Given the description of an element on the screen output the (x, y) to click on. 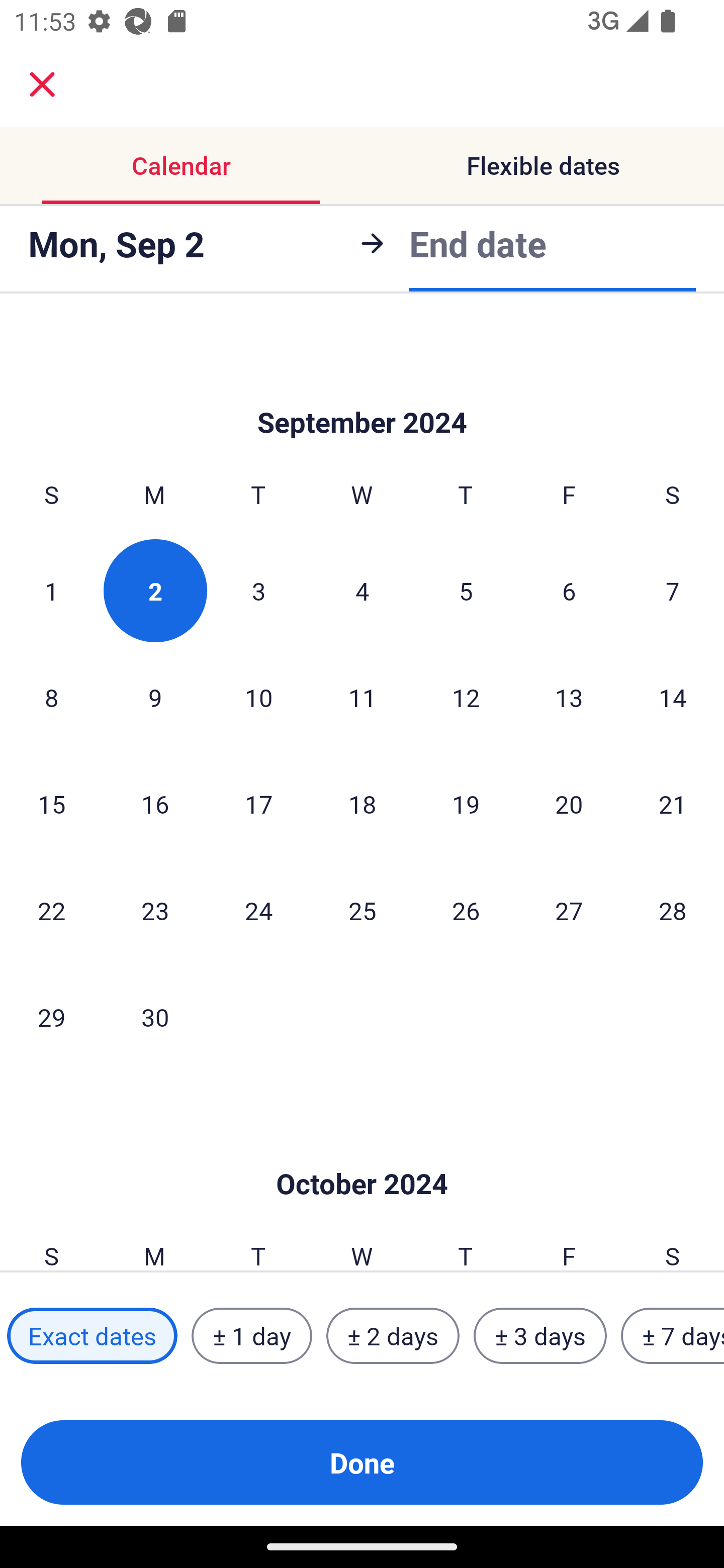
close. (42, 84)
Flexible dates (542, 164)
End date (477, 243)
Skip to Done (362, 391)
1 Sunday, September 1, 2024 (51, 590)
3 Tuesday, September 3, 2024 (258, 590)
4 Wednesday, September 4, 2024 (362, 590)
5 Thursday, September 5, 2024 (465, 590)
6 Friday, September 6, 2024 (569, 590)
7 Saturday, September 7, 2024 (672, 590)
8 Sunday, September 8, 2024 (51, 697)
9 Monday, September 9, 2024 (155, 697)
10 Tuesday, September 10, 2024 (258, 697)
11 Wednesday, September 11, 2024 (362, 697)
12 Thursday, September 12, 2024 (465, 697)
13 Friday, September 13, 2024 (569, 697)
14 Saturday, September 14, 2024 (672, 697)
15 Sunday, September 15, 2024 (51, 804)
16 Monday, September 16, 2024 (155, 804)
17 Tuesday, September 17, 2024 (258, 804)
18 Wednesday, September 18, 2024 (362, 804)
19 Thursday, September 19, 2024 (465, 804)
20 Friday, September 20, 2024 (569, 804)
21 Saturday, September 21, 2024 (672, 804)
22 Sunday, September 22, 2024 (51, 910)
23 Monday, September 23, 2024 (155, 910)
24 Tuesday, September 24, 2024 (258, 910)
25 Wednesday, September 25, 2024 (362, 910)
26 Thursday, September 26, 2024 (465, 910)
27 Friday, September 27, 2024 (569, 910)
28 Saturday, September 28, 2024 (672, 910)
29 Sunday, September 29, 2024 (51, 1016)
30 Monday, September 30, 2024 (155, 1016)
Skip to Done (362, 1153)
Exact dates (92, 1335)
± 1 day (251, 1335)
± 2 days (392, 1335)
± 3 days (539, 1335)
± 7 days (672, 1335)
Done (361, 1462)
